Given the description of an element on the screen output the (x, y) to click on. 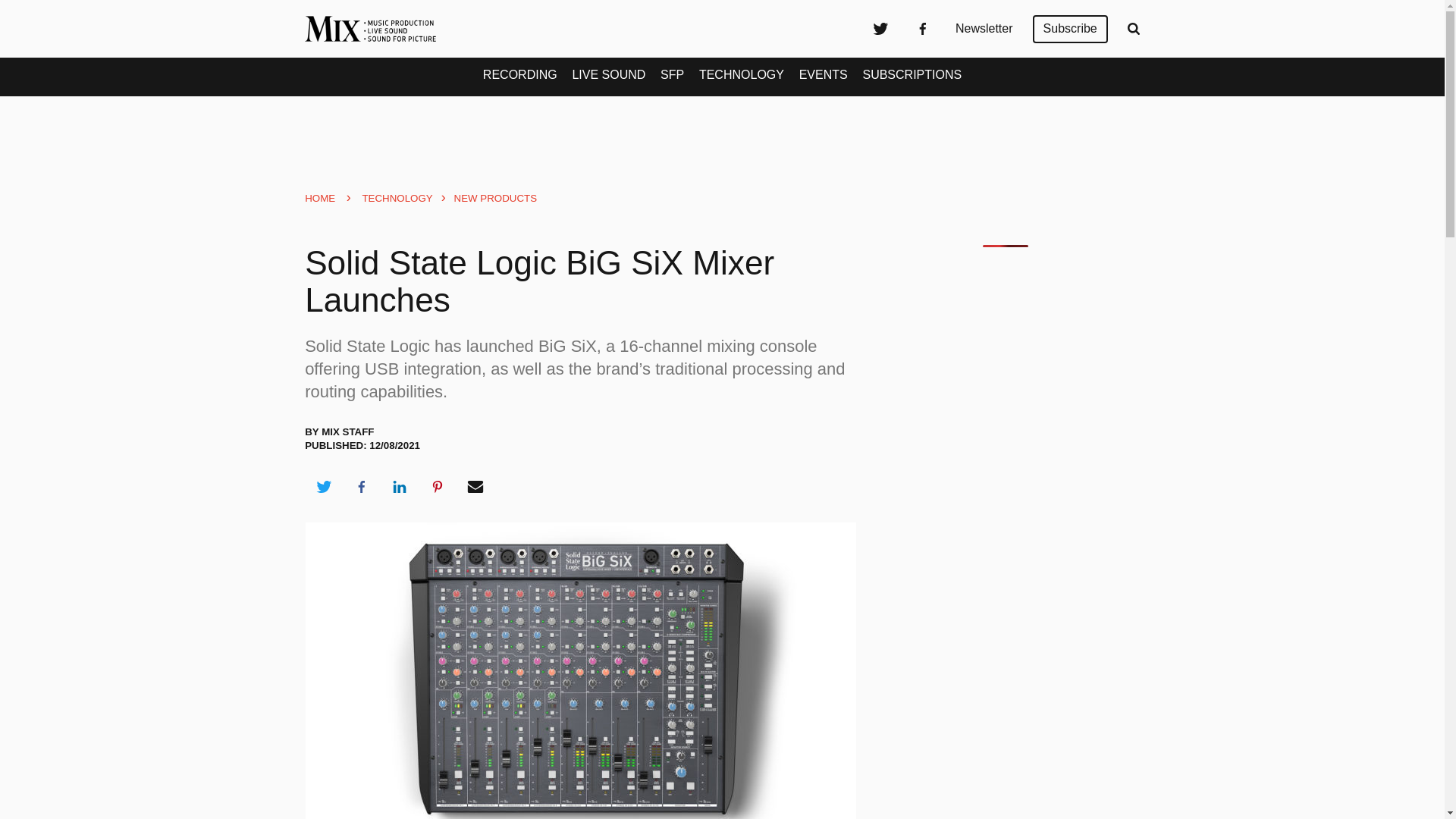
Share on Facebook (361, 486)
Share via Email (476, 486)
Share on LinkedIn (399, 486)
Share on Pinterest (438, 486)
Share on Twitter (323, 486)
